Given the description of an element on the screen output the (x, y) to click on. 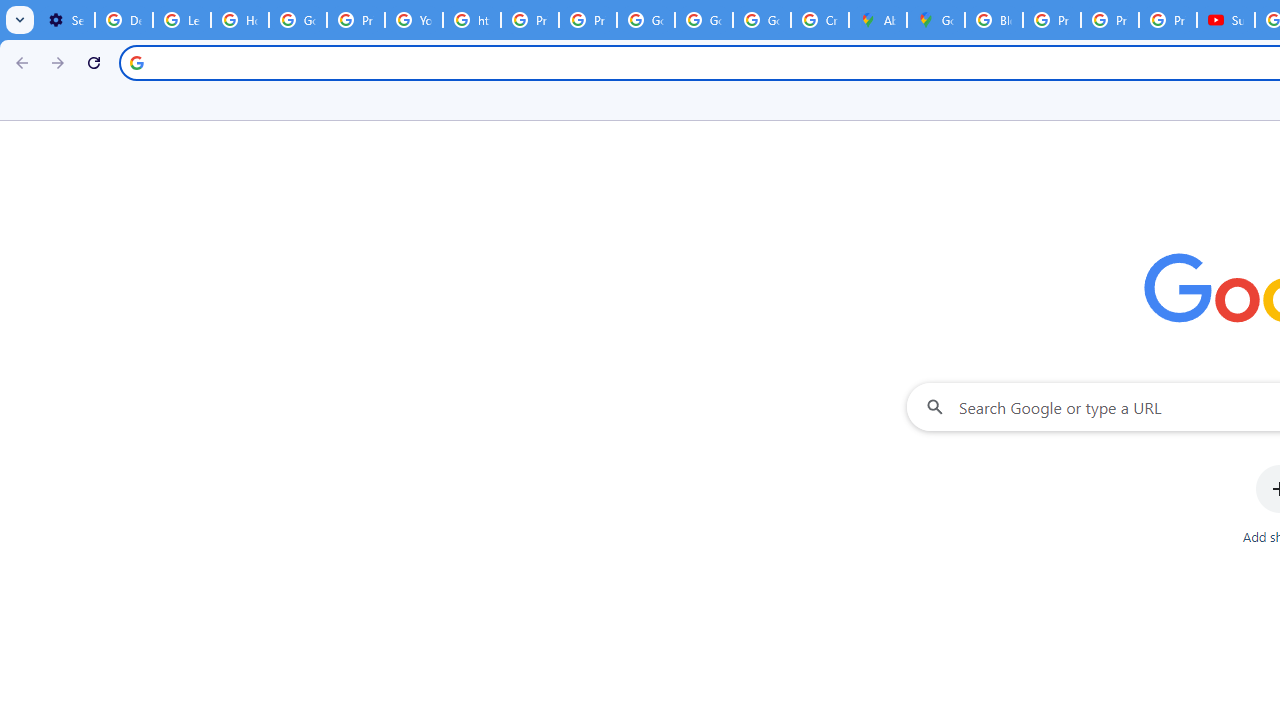
Google Maps (936, 20)
Subscriptions - YouTube (1225, 20)
https://scholar.google.com/ (471, 20)
Settings - Customize profile (65, 20)
Blogger Policies and Guidelines - Transparency Center (993, 20)
Learn how to find your photos - Google Photos Help (181, 20)
Delete photos & videos - Computer - Google Photos Help (123, 20)
